Given the description of an element on the screen output the (x, y) to click on. 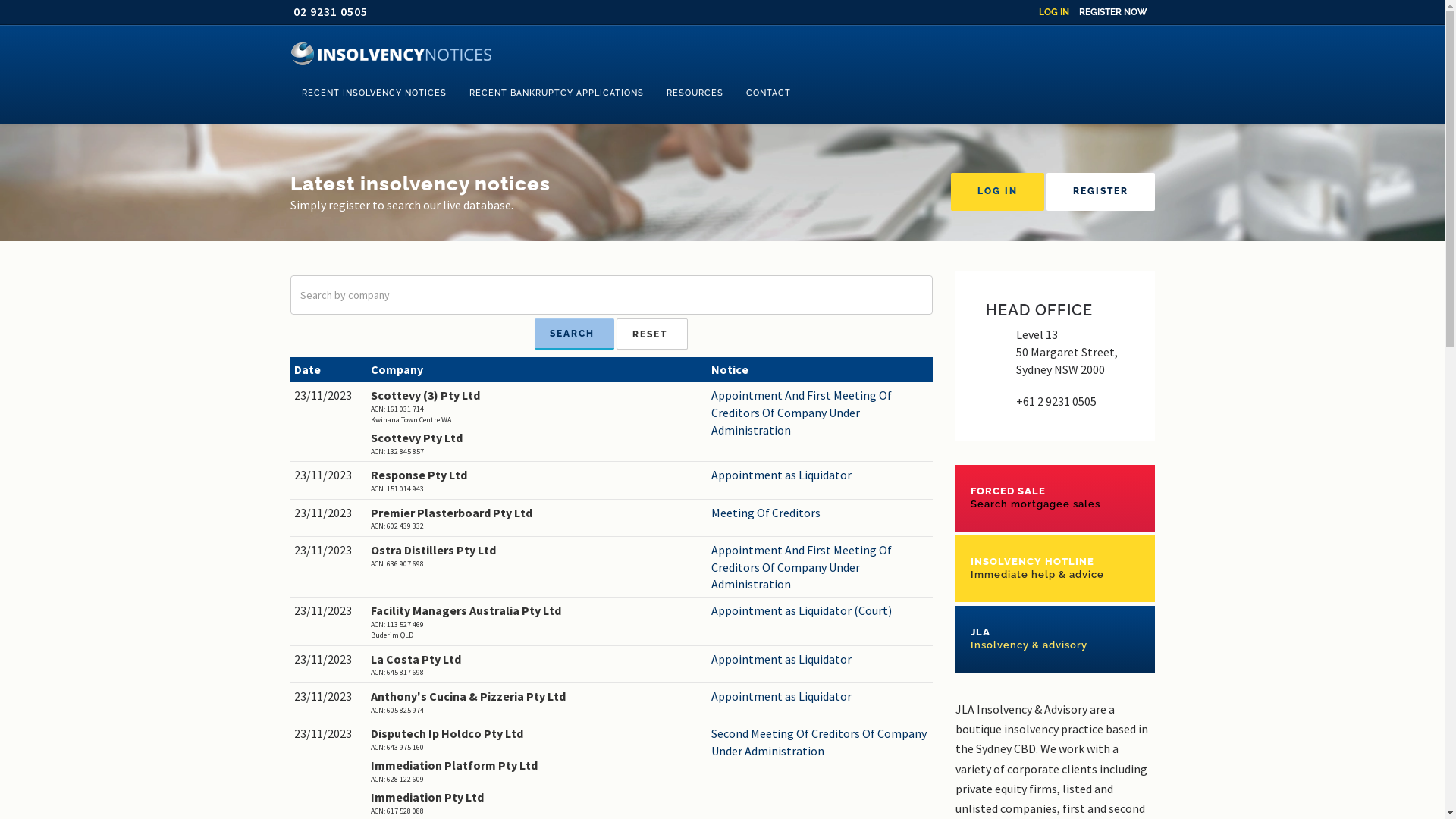
CONTACT Element type: text (767, 92)
RECENT INSOLVENCY NOTICES Element type: text (373, 92)
23/11/2023 Element type: text (329, 395)
LOG IN Element type: text (1053, 11)
Meeting Of Creditors Element type: text (819, 512)
Anthony's Cucina & Pizzeria Pty Ltd
ACN: 605 825 974 Element type: text (536, 701)
INSOLVENCY HOTLINE  
Immediate help & advice Element type: text (1054, 568)
23/11/2023 Element type: text (329, 610)
Second Meeting Of Creditors Of Company Under Administration Element type: text (819, 741)
23/11/2023 Element type: text (329, 733)
Search Element type: text (574, 333)
LOG IN Element type: text (997, 191)
REGISTER NOW Element type: text (1112, 11)
Response Pty Ltd
ACN: 151 014 943 Element type: text (536, 480)
23/11/2023 Element type: text (329, 474)
Premier Plasterboard Pty Ltd
ACN: 602 439 332 Element type: text (536, 518)
La Costa Pty Ltd
ACN: 645 817 698 Element type: text (536, 664)
FORCED SALE  
Search mortgagee sales Element type: text (1054, 497)
RECENT BANKRUPTCY APPLICATIONS Element type: text (556, 92)
Appointment as Liquidator Element type: text (819, 659)
23/11/2023 Element type: text (329, 549)
Appointment as Liquidator Element type: text (819, 474)
Appointment as Liquidator Element type: text (819, 696)
Ostra Distillers Pty Ltd
ACN: 636 907 698 Element type: text (536, 555)
RESOURCES Element type: text (694, 92)
REGISTER Element type: text (1100, 191)
23/11/2023 Element type: text (329, 659)
JLA  
Insolvency & advisory Element type: text (1054, 638)
23/11/2023 Element type: text (329, 696)
23/11/2023 Element type: text (329, 512)
Appointment as Liquidator (Court) Element type: text (819, 610)
